Given the description of an element on the screen output the (x, y) to click on. 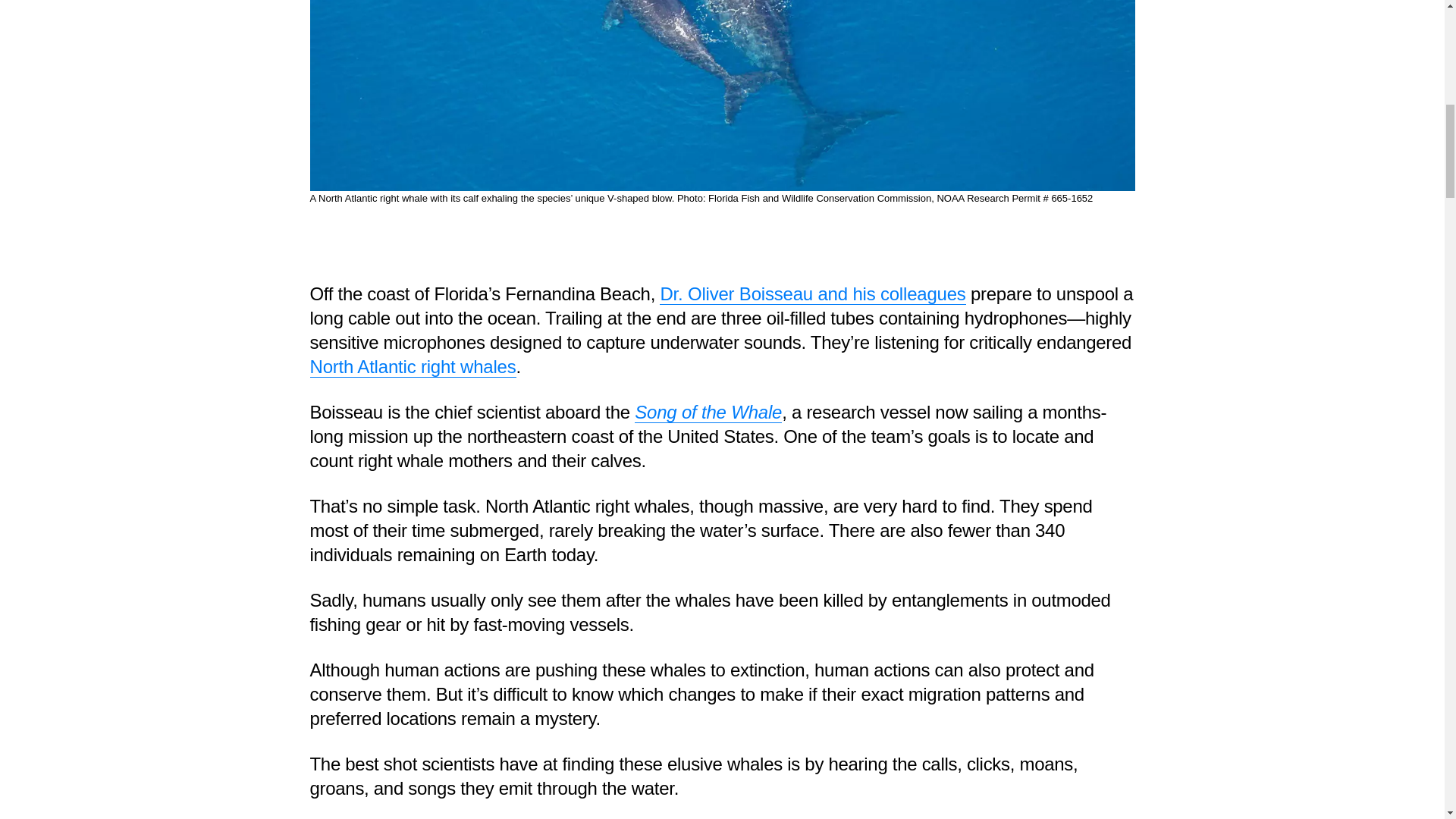
Dr. Oliver Boisseau and his colleagues (812, 293)
North Atlantic right whales (411, 366)
Song of the Whale (707, 412)
